Given the description of an element on the screen output the (x, y) to click on. 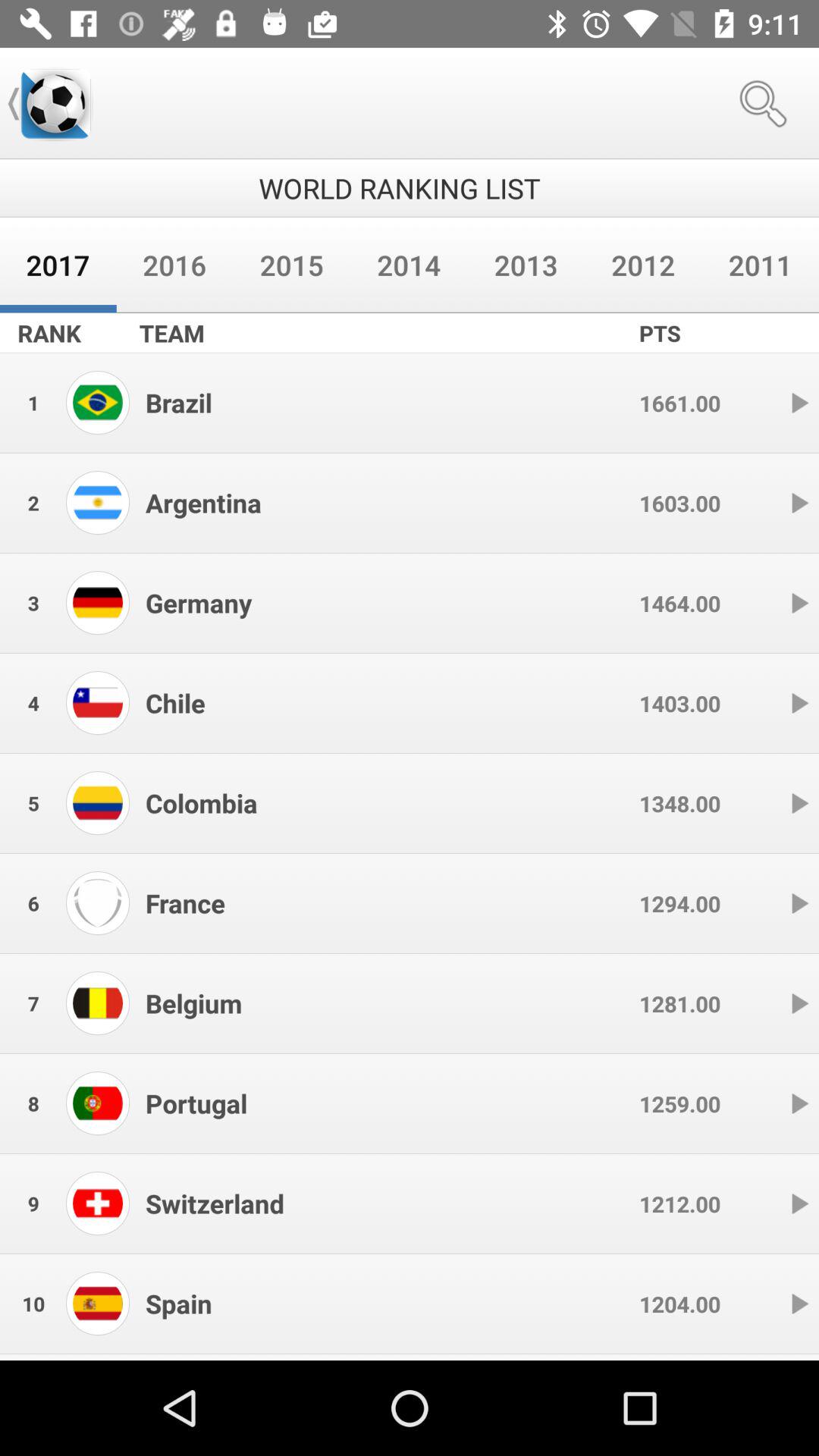
select the icon which is beside the 121200 (798, 1203)
